Given the description of an element on the screen output the (x, y) to click on. 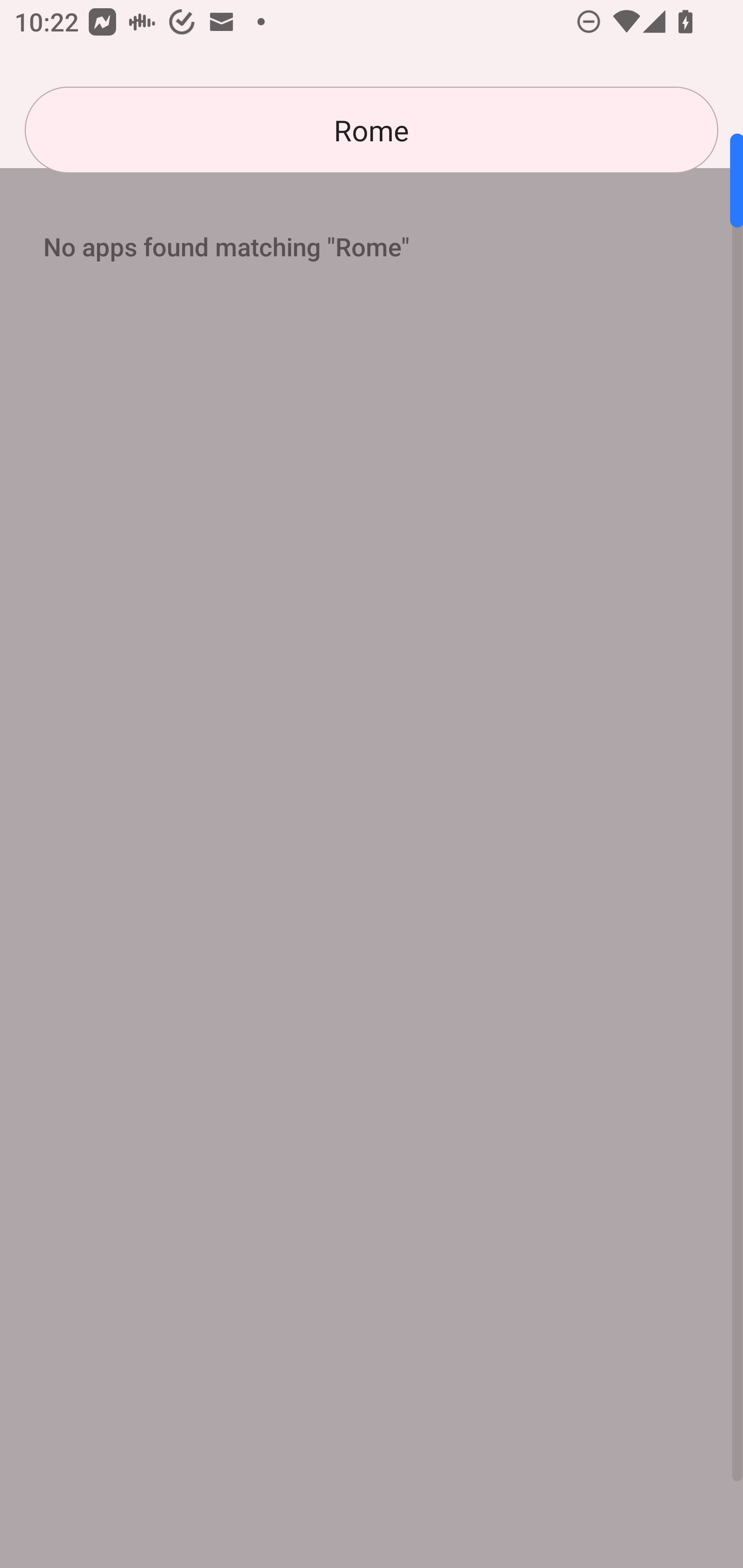
Rome (371, 130)
